Given the description of an element on the screen output the (x, y) to click on. 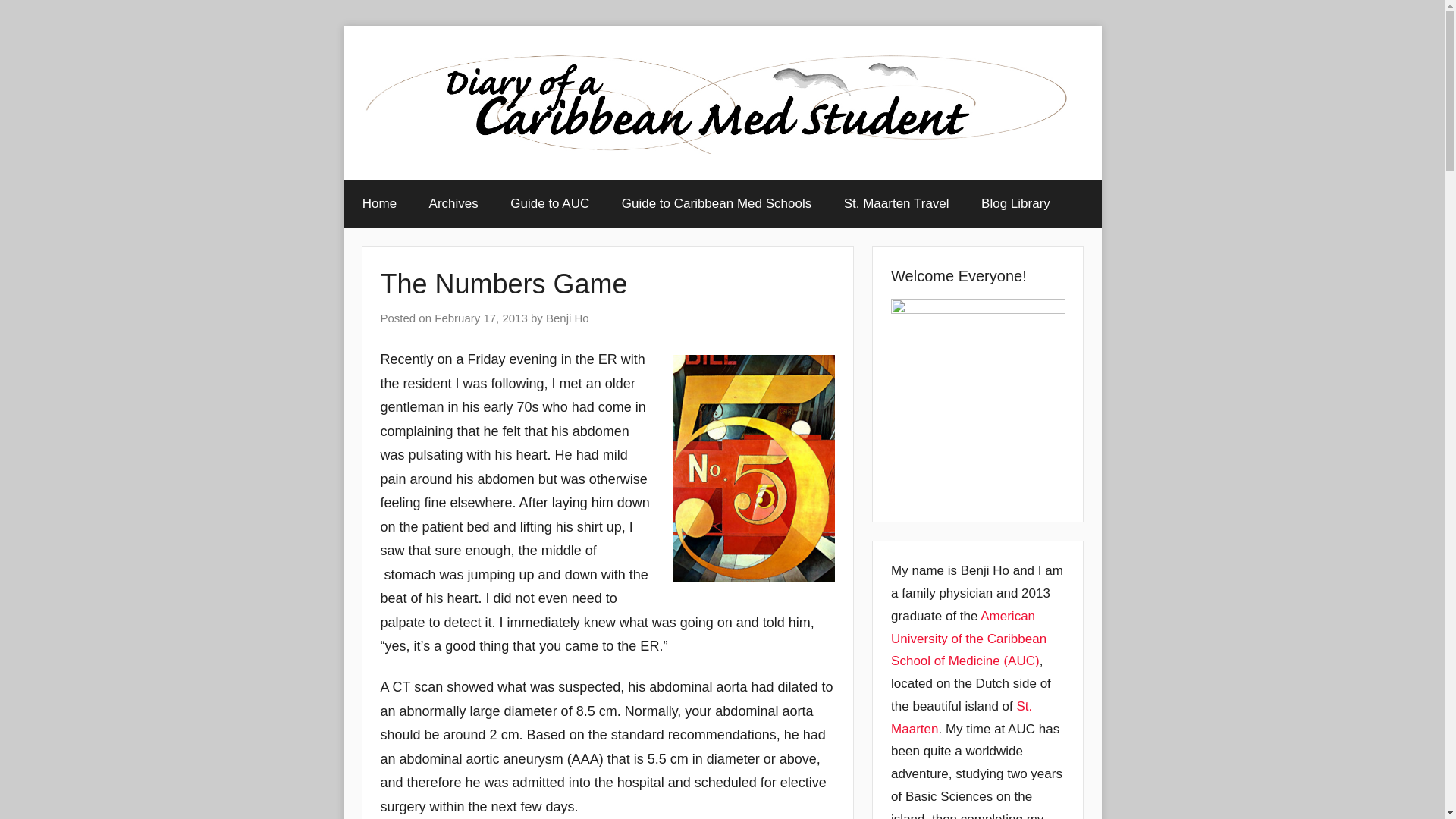
Blog Library (1015, 203)
Home (379, 203)
February 17, 2013 (480, 318)
Archives (453, 203)
Guide to AUC (550, 203)
St. Maarten (961, 717)
View all posts by Benji Ho (567, 318)
Benji Ho (567, 318)
Guide to Caribbean Med Schools (716, 203)
